Given the description of an element on the screen output the (x, y) to click on. 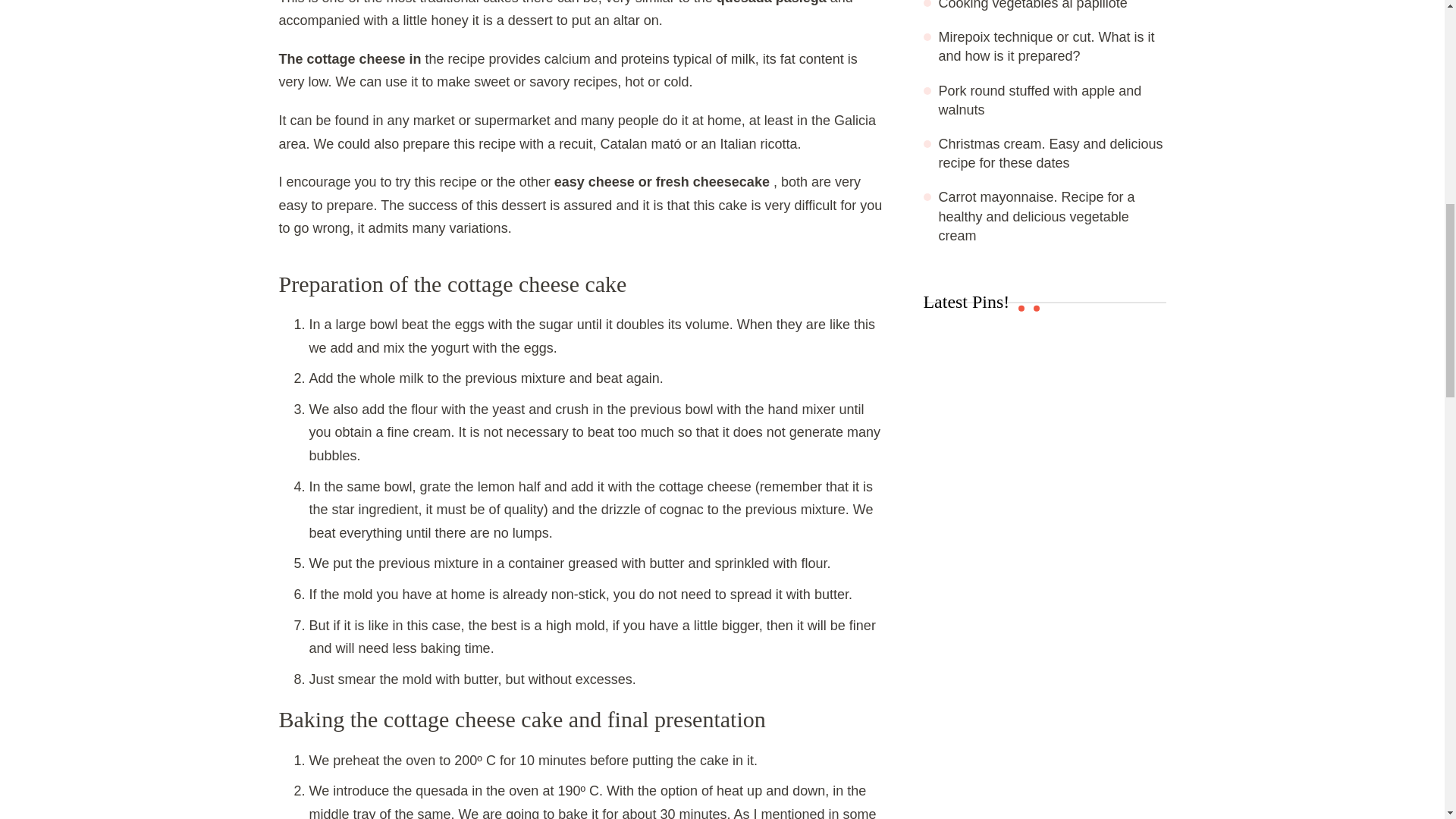
Pork round stuffed with apple and walnuts (1040, 100)
Cooking vegetables al papillote (1032, 5)
Christmas cream. Easy and delicious recipe for these dates (1051, 153)
